Given the description of an element on the screen output the (x, y) to click on. 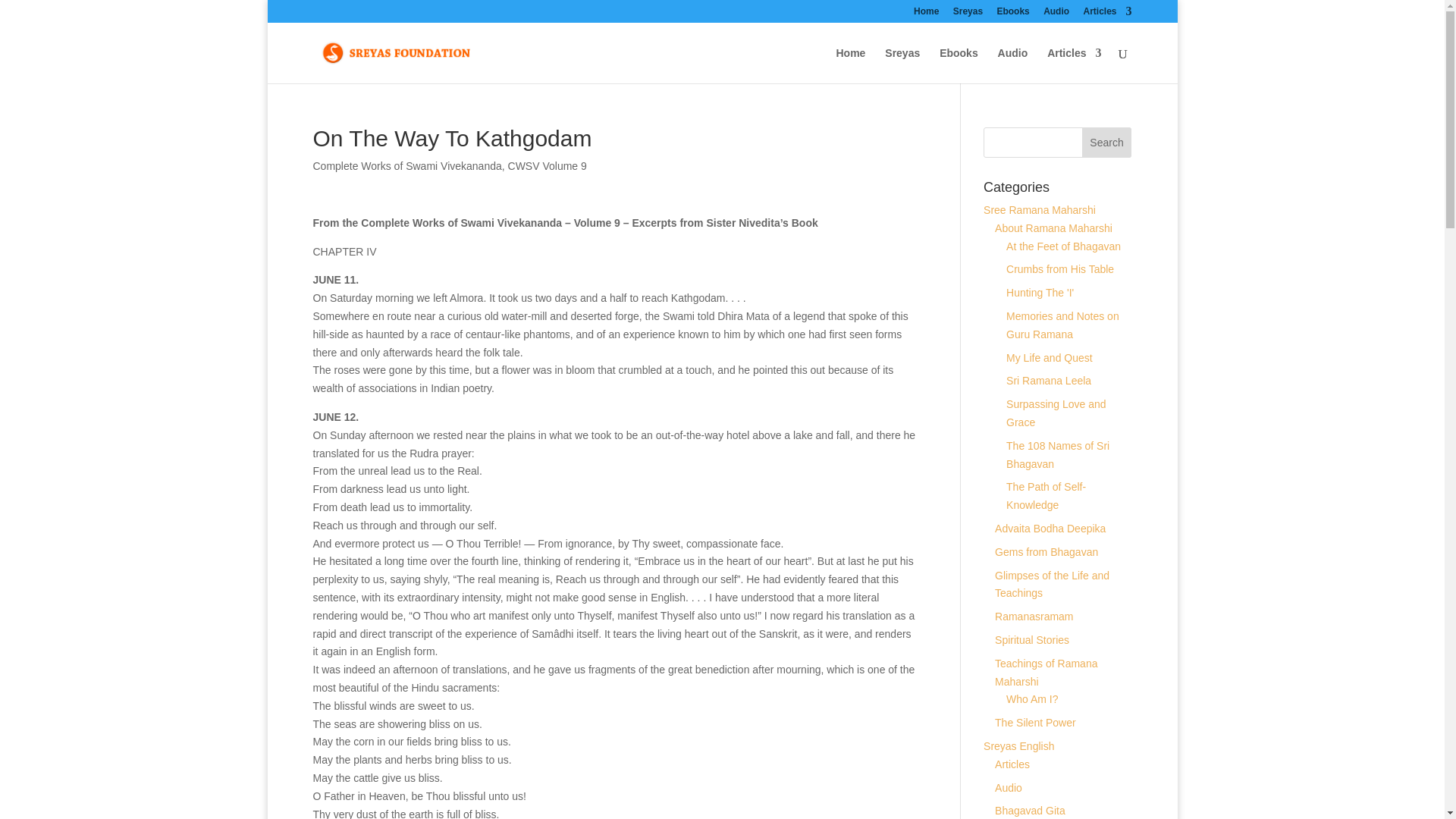
Articles (1107, 14)
Articles (1073, 65)
Ebooks (1012, 14)
Audio (1055, 14)
Complete Works of Swami Vivekananda (406, 165)
Sreyas (902, 65)
About Ramana Maharshi (1053, 227)
Sreyas (967, 14)
At the Feet of Bhagavan (1063, 246)
Search (1106, 142)
Ebooks (958, 65)
CWSV Volume 9 (547, 165)
Home (926, 14)
Sree Ramana Maharshi (1040, 209)
Search (1106, 142)
